Given the description of an element on the screen output the (x, y) to click on. 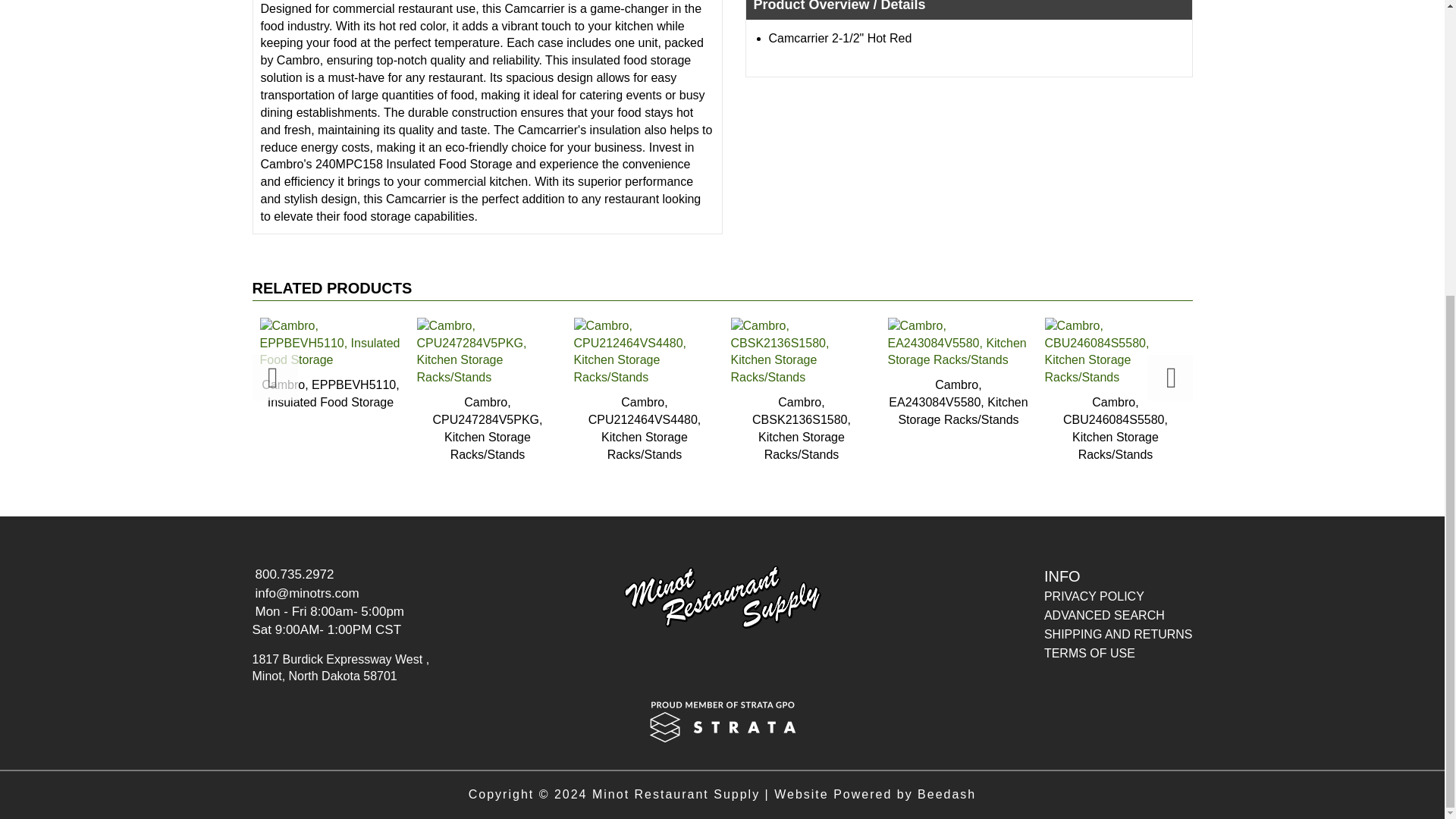
Cambro, EPPBEVH5110, Insulated Food Storage (330, 364)
